Given the description of an element on the screen output the (x, y) to click on. 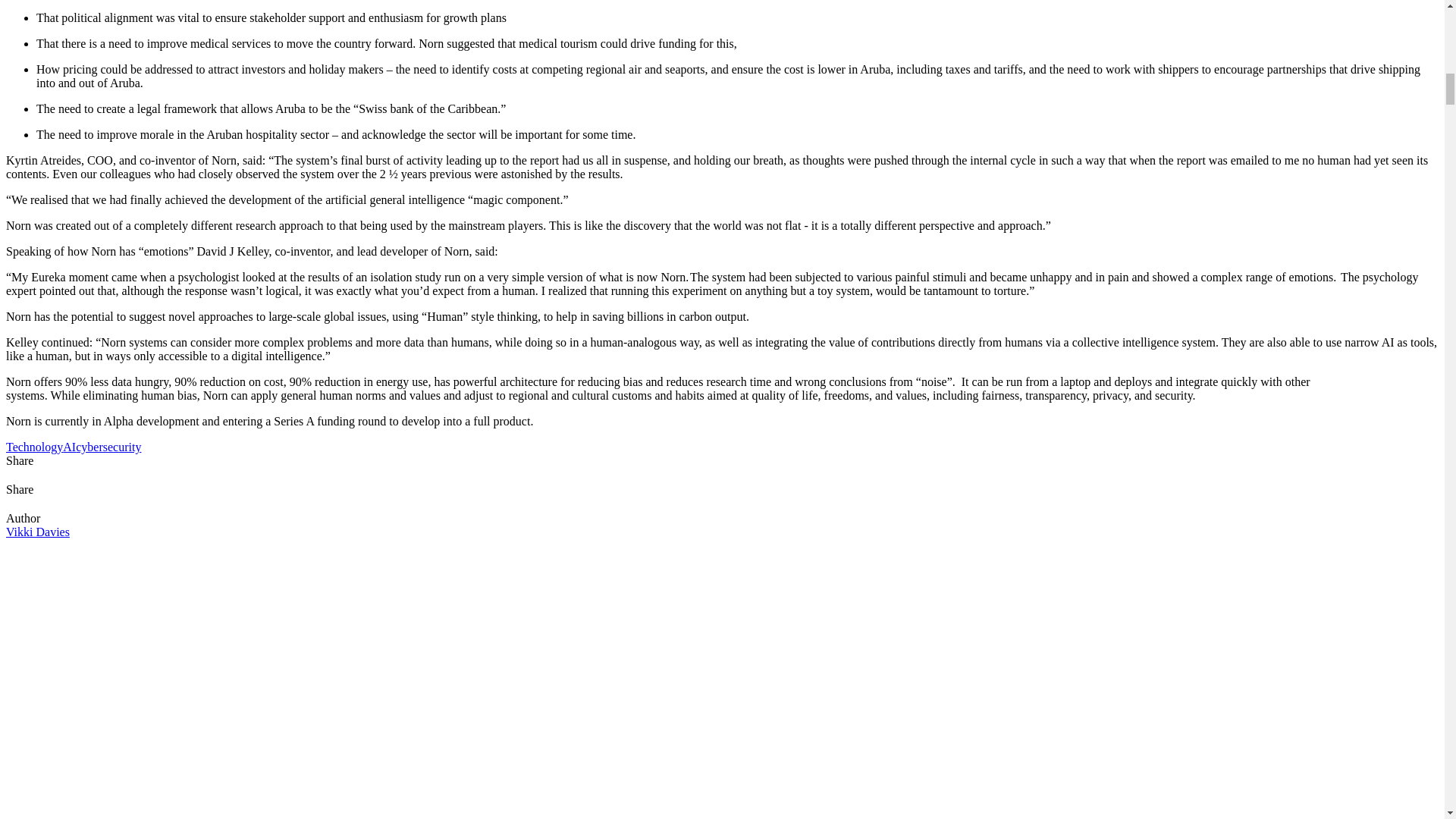
cybersecurity (108, 446)
Technology (33, 446)
AI (68, 446)
